Given the description of an element on the screen output the (x, y) to click on. 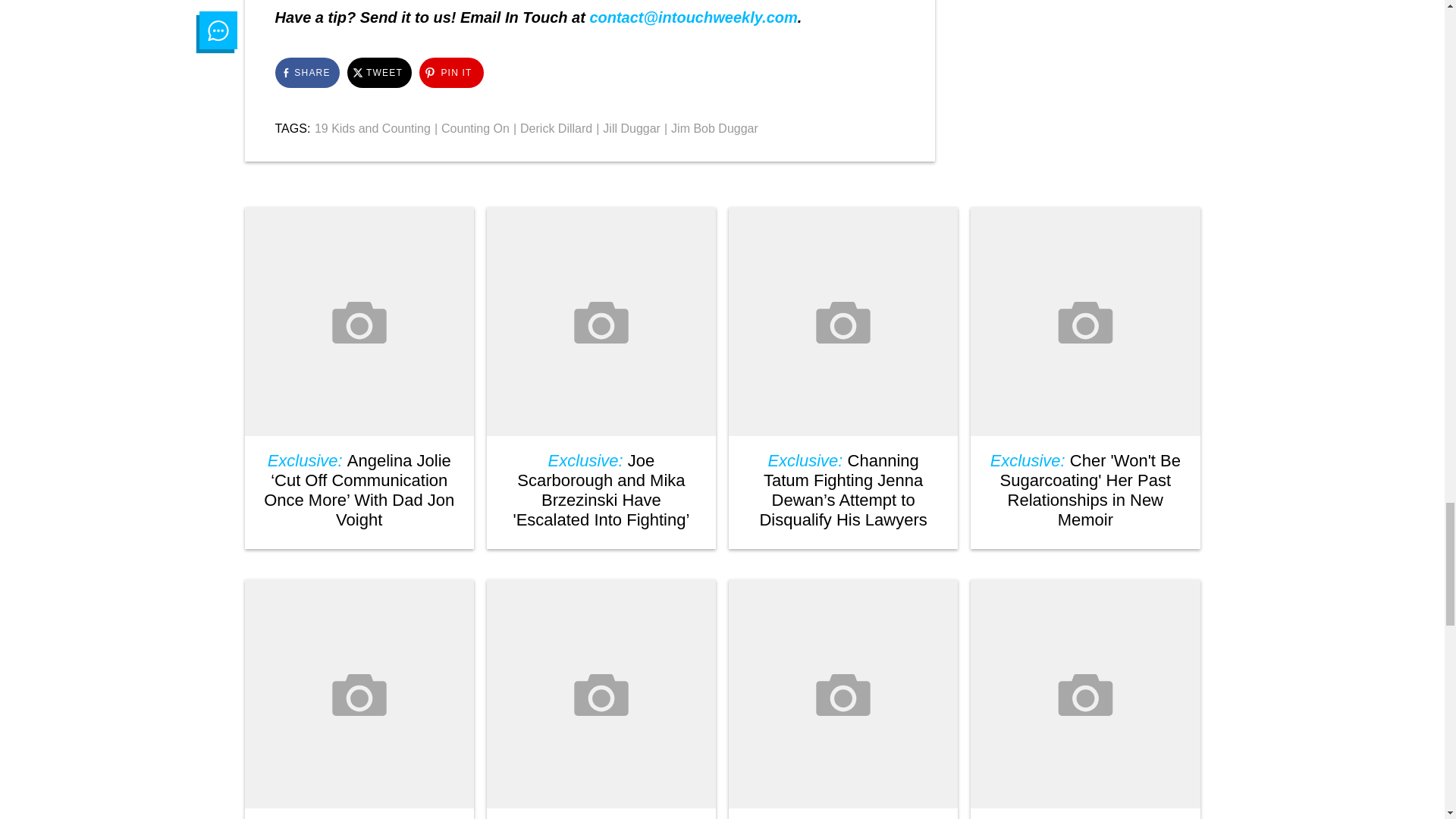
Click to share on Twitter (379, 72)
Click to share on Pinterest (451, 72)
Click to share on Facebook (307, 72)
